Given the description of an element on the screen output the (x, y) to click on. 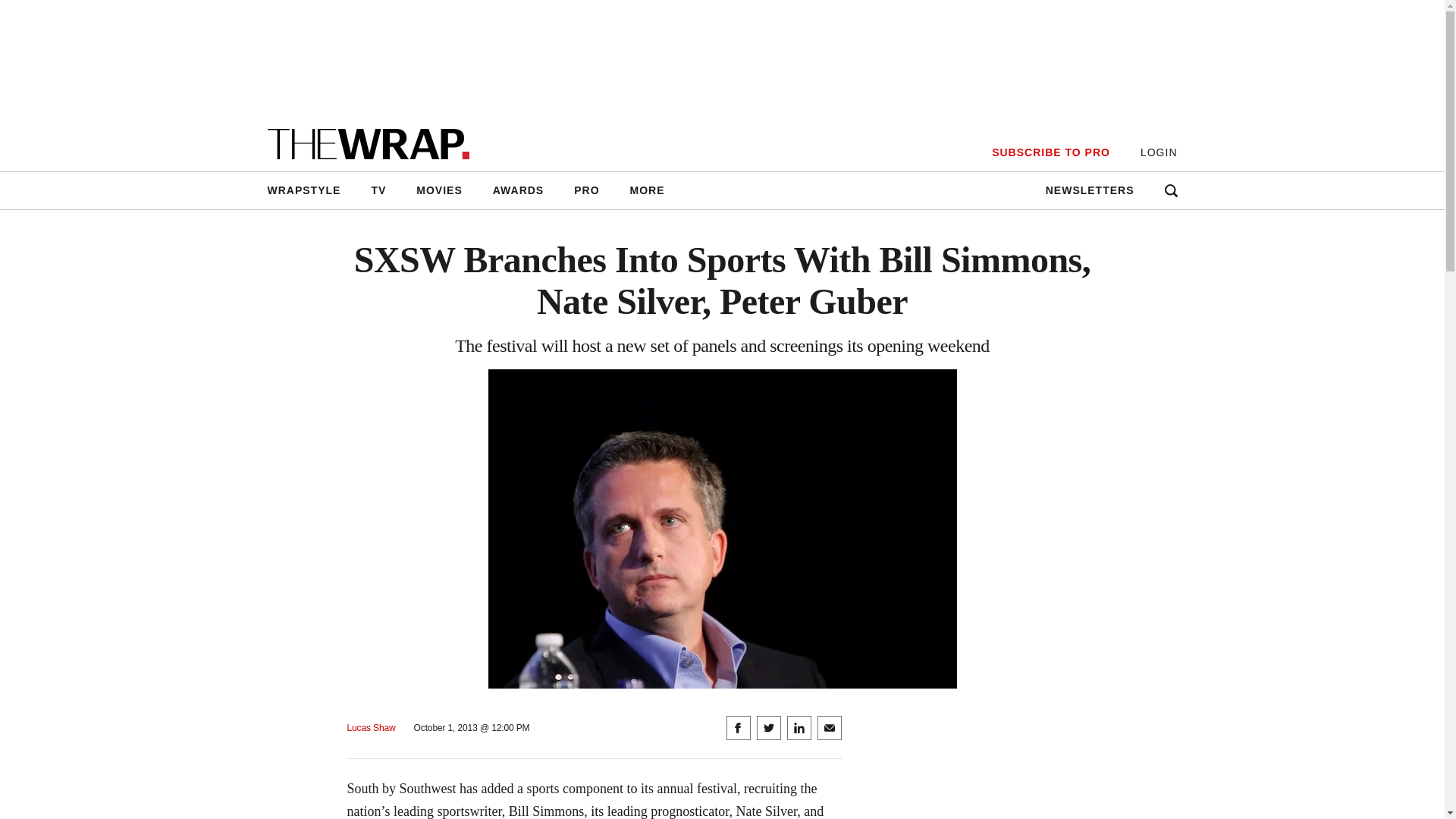
LOGIN (1158, 152)
SUBSCRIBE TO PRO (1050, 152)
MOVIES (439, 190)
AWARDS (518, 190)
TV (378, 190)
WRAPSTYLE (310, 190)
Posts by Lucas Shaw (371, 727)
PRO (586, 190)
MORE (646, 190)
